Given the description of an element on the screen output the (x, y) to click on. 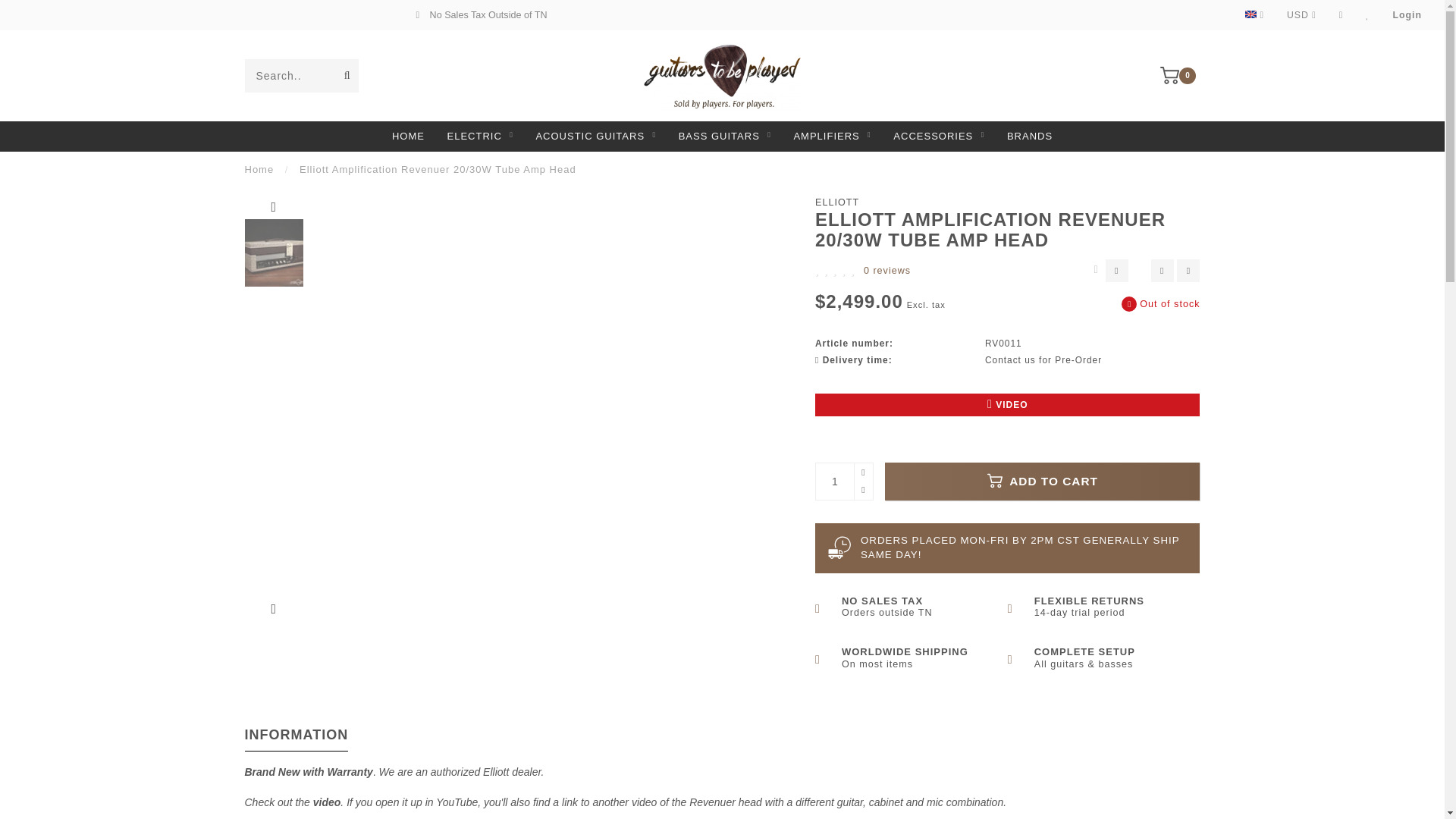
Home (258, 169)
Add to wishlist (1162, 270)
BASS GUITARS (724, 136)
USD (1301, 15)
HOME (408, 136)
ACOUSTIC GUITARS (595, 136)
My wishlist (1367, 14)
Compare (1341, 14)
ELECTRIC (479, 136)
1 (843, 481)
0 (1179, 73)
Add to comparison (1187, 270)
Login (1406, 14)
